Given the description of an element on the screen output the (x, y) to click on. 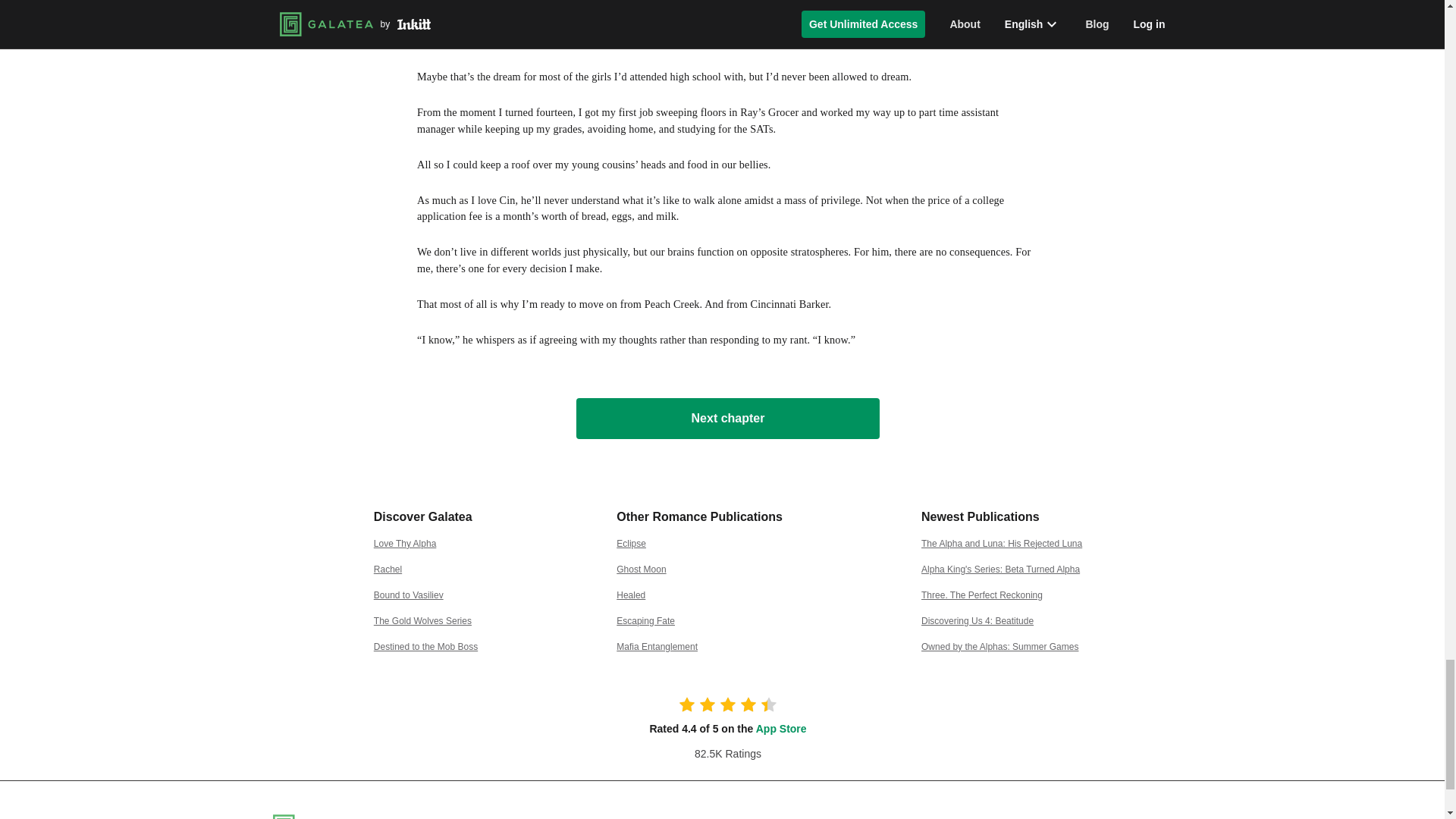
Eclipse (630, 543)
Rachel (387, 569)
The Alpha and Luna: His Rejected Luna (1001, 543)
Destined to the Mob Boss (425, 646)
Bound to Vasiliev (409, 594)
Healed (630, 594)
The Gold Wolves Series (422, 620)
Ghost Moon (640, 569)
Escaping Fate (645, 620)
Love Thy Alpha (405, 543)
Mafia Entanglement (656, 646)
Next chapter (727, 418)
